Given the description of an element on the screen output the (x, y) to click on. 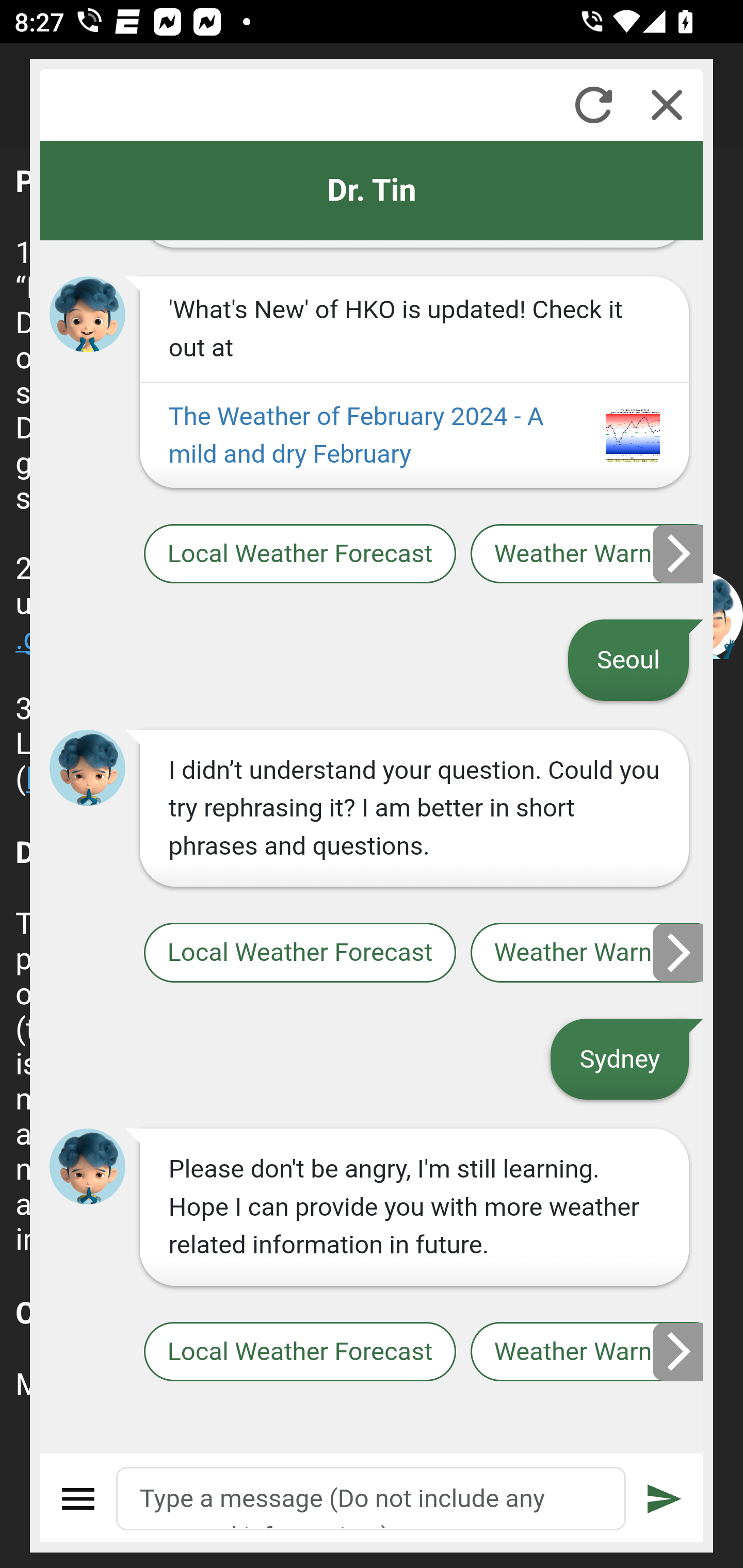
Refresh (593, 104)
Close (666, 104)
Local Weather Forecast (299, 553)
Weather Warnings (587, 553)
Next slide (678, 553)
Local Weather Forecast (299, 952)
Weather Warnings (587, 952)
Next slide (678, 952)
Local Weather Forecast (299, 1351)
Weather Warnings (587, 1351)
Next slide (678, 1351)
Menu (78, 1498)
Submit (665, 1498)
